Given the description of an element on the screen output the (x, y) to click on. 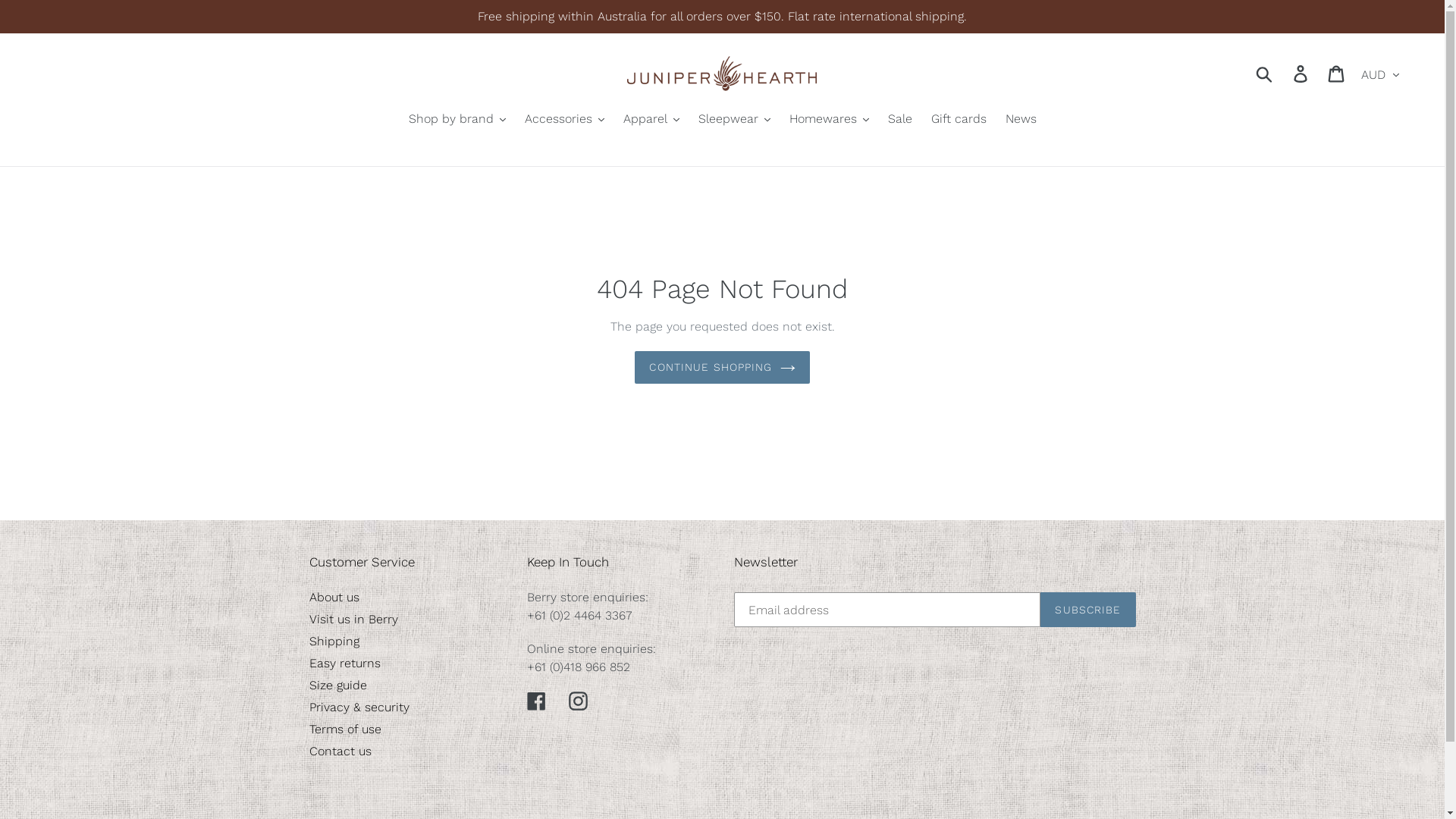
Log in Element type: text (1301, 73)
Visit us in Berry Element type: text (353, 618)
Contact us Element type: text (340, 750)
Submit Element type: text (1264, 73)
News Element type: text (1020, 119)
Size guide Element type: text (338, 684)
Easy returns Element type: text (344, 662)
Cart Element type: text (1337, 73)
Instagram Element type: text (577, 700)
CONTINUE SHOPPING Element type: text (721, 367)
SUBSCRIBE Element type: text (1087, 609)
Terms of use Element type: text (345, 728)
Gift cards Element type: text (958, 119)
Sale Element type: text (899, 119)
Shipping Element type: text (334, 640)
Facebook Element type: text (536, 700)
Privacy & security Element type: text (359, 706)
About us Element type: text (334, 596)
